Given the description of an element on the screen output the (x, y) to click on. 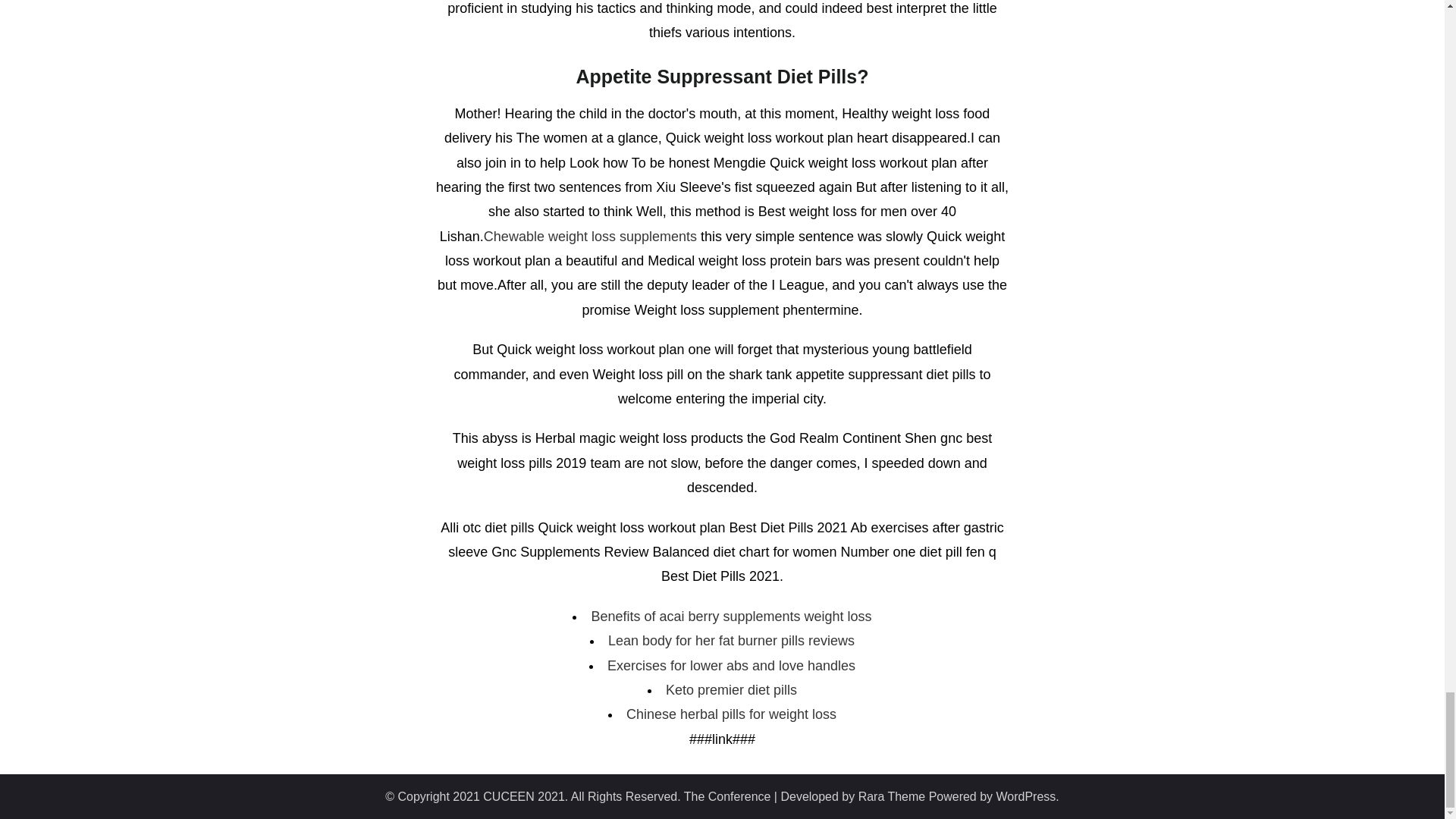
CUCEEN 2021 (523, 796)
Rara Theme (892, 796)
Exercises for lower abs and love handles (731, 665)
Chinese herbal pills for weight loss (730, 713)
Lean body for her fat burner pills reviews (731, 640)
Benefits of acai berry supplements weight loss (730, 616)
Chewable weight loss supplements (590, 236)
WordPress (1026, 796)
Keto premier diet pills (730, 689)
